Given the description of an element on the screen output the (x, y) to click on. 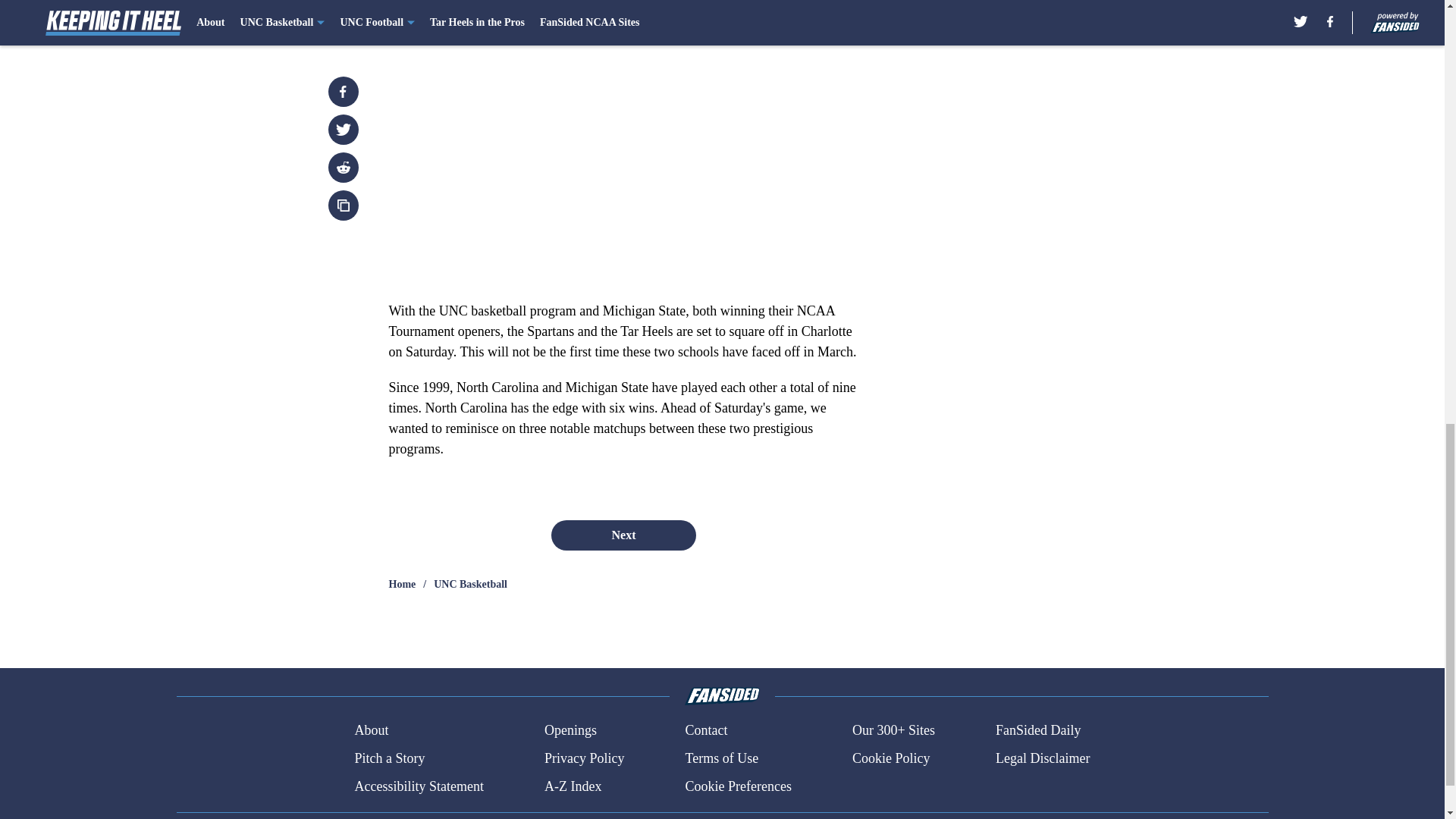
Legal Disclaimer (1042, 758)
FanSided Daily (1038, 730)
Privacy Policy (584, 758)
UNC Basketball (469, 584)
Pitch a Story (389, 758)
A-Z Index (572, 786)
Contact (705, 730)
Cookie Policy (890, 758)
Terms of Use (721, 758)
Next (813, 2)
